Given the description of an element on the screen output the (x, y) to click on. 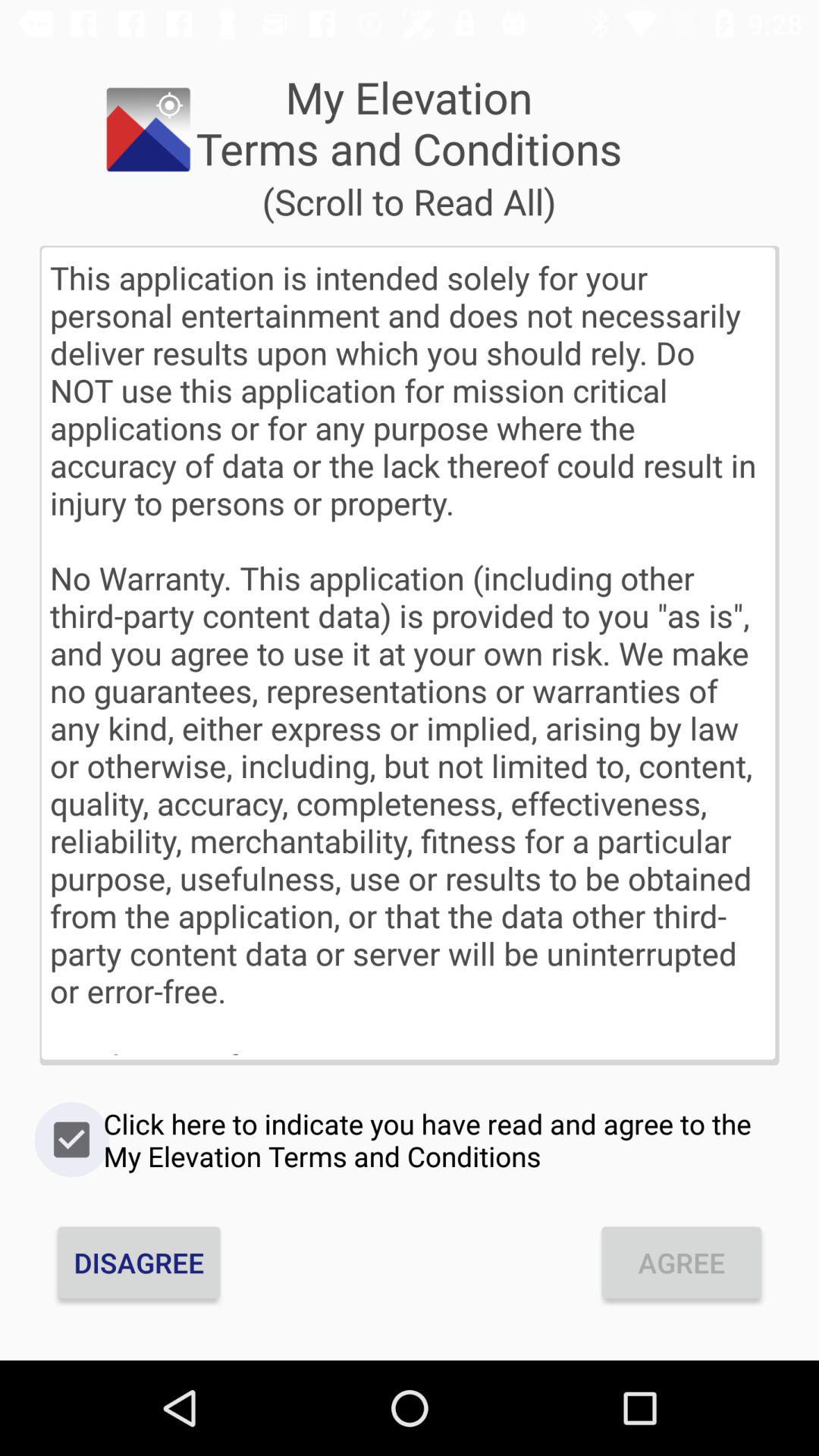
open the item below click here to icon (139, 1262)
